Given the description of an element on the screen output the (x, y) to click on. 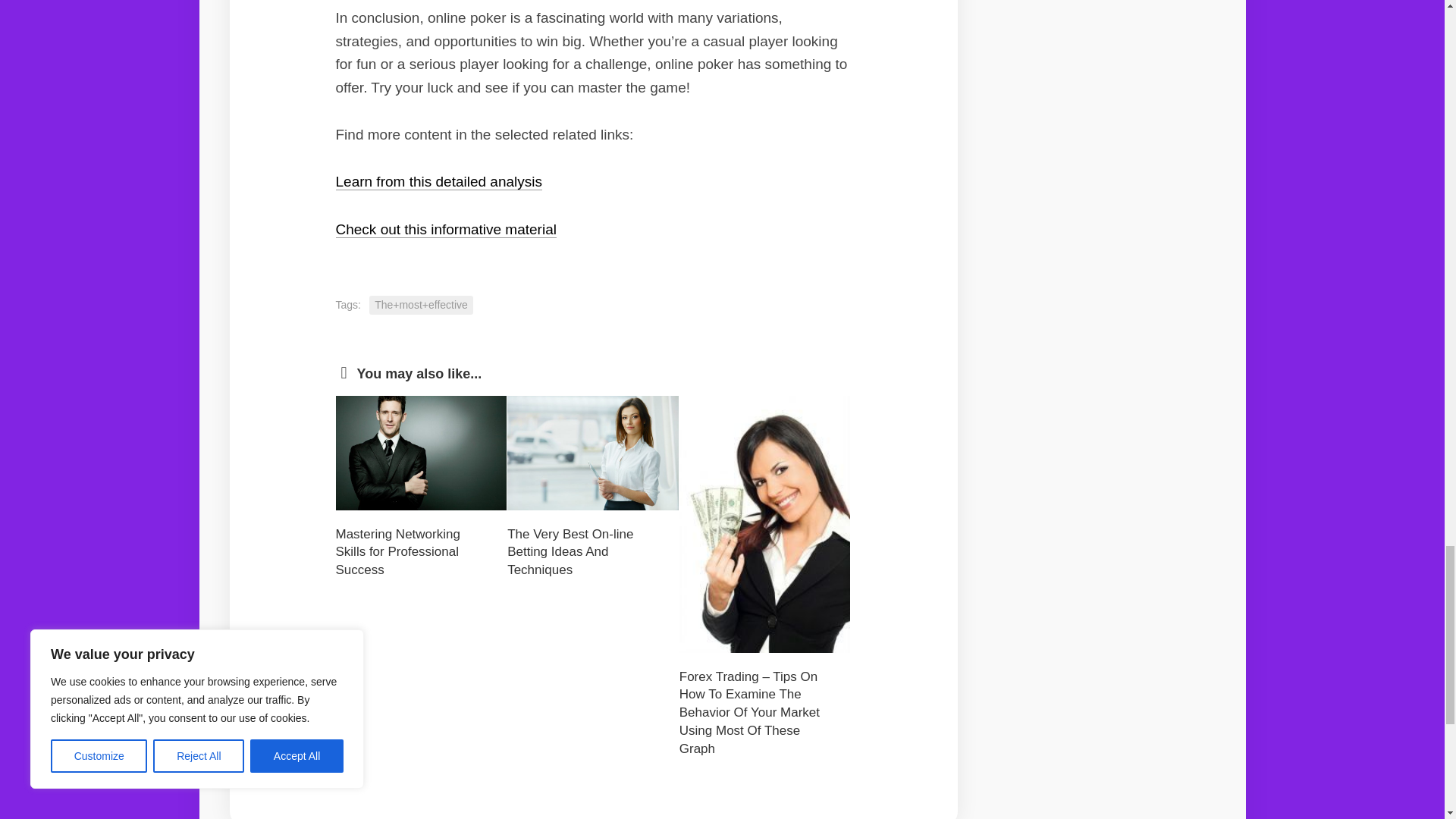
Mastering Networking Skills for Professional Success (397, 551)
The Very Best On-line Betting Ideas And Techniques (569, 551)
Check out this informative material (445, 229)
Learn from this detailed analysis (437, 181)
